Given the description of an element on the screen output the (x, y) to click on. 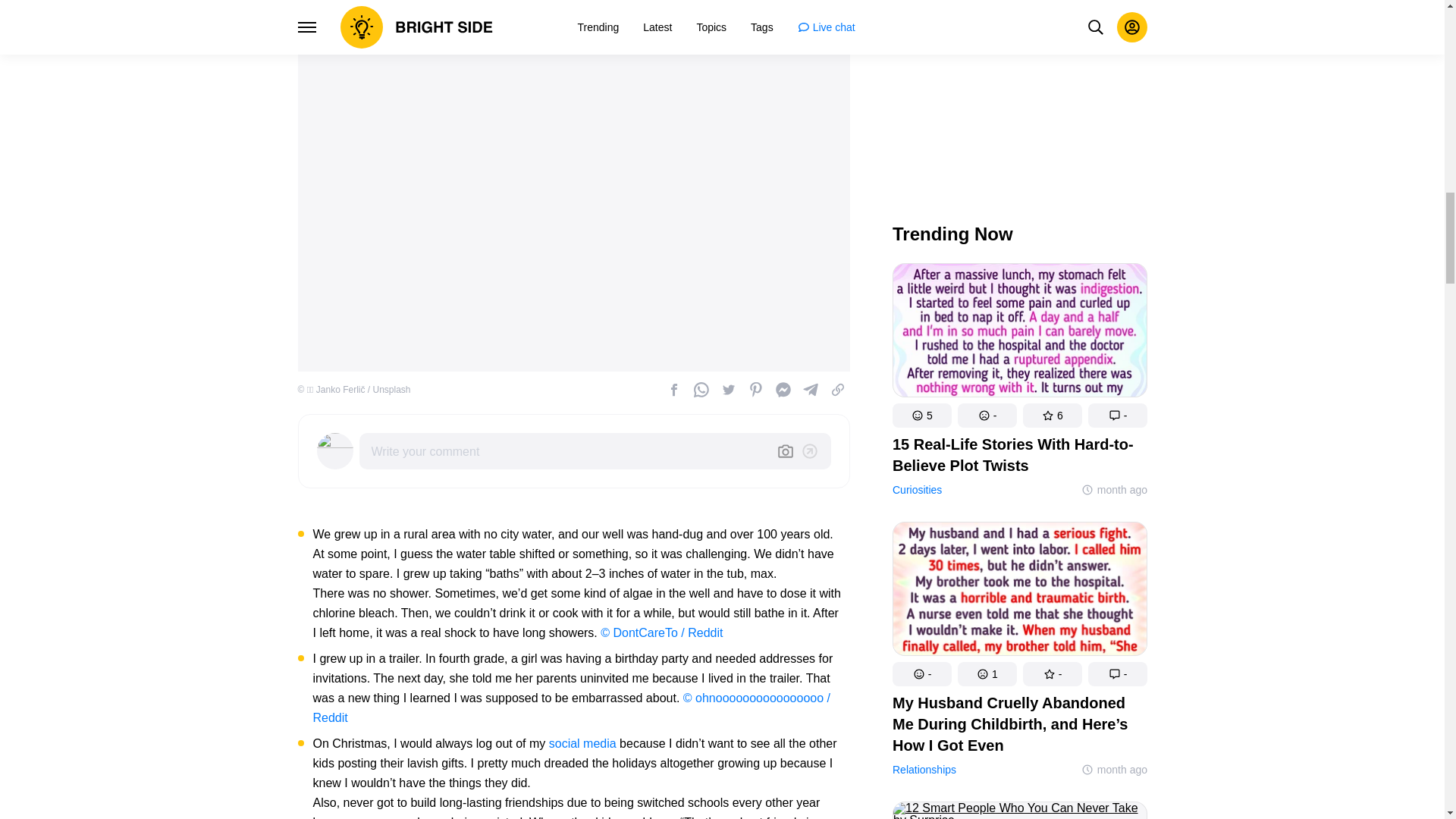
Share on Facebook (782, 389)
Share on Pinterest (754, 389)
Share on Twitter (727, 389)
Share on Telegram (809, 389)
Share on Facebook (673, 389)
social media (581, 743)
social media (581, 743)
Share on WhatsApp (700, 389)
Copy link (836, 389)
